Given the description of an element on the screen output the (x, y) to click on. 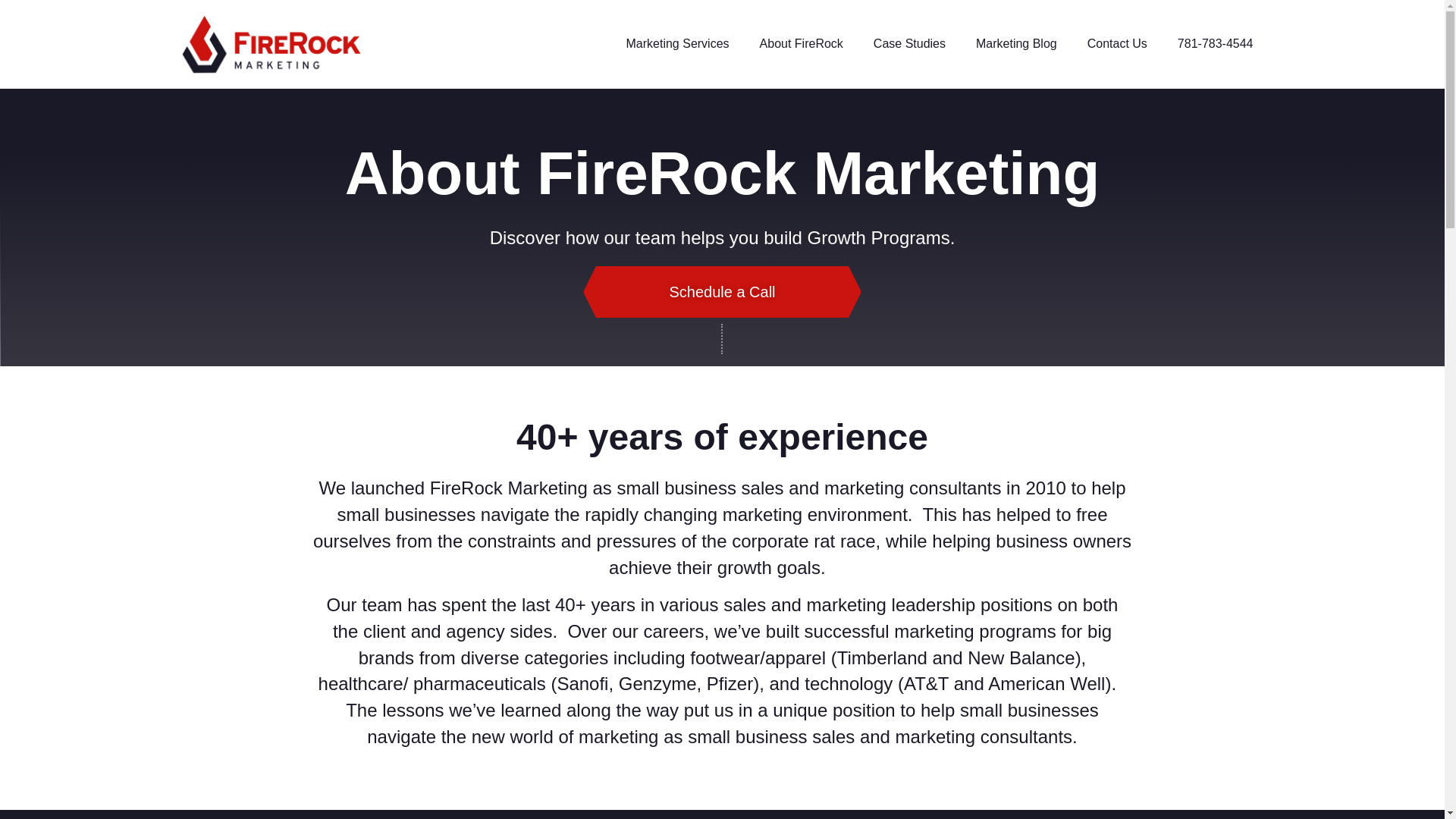
Contact Us (1116, 43)
About FireRock (801, 43)
Marketing Services (677, 43)
Case Studies (909, 43)
Marketing Blog (1015, 43)
781-783-4544 (1214, 43)
Schedule a Call (721, 291)
